Given the description of an element on the screen output the (x, y) to click on. 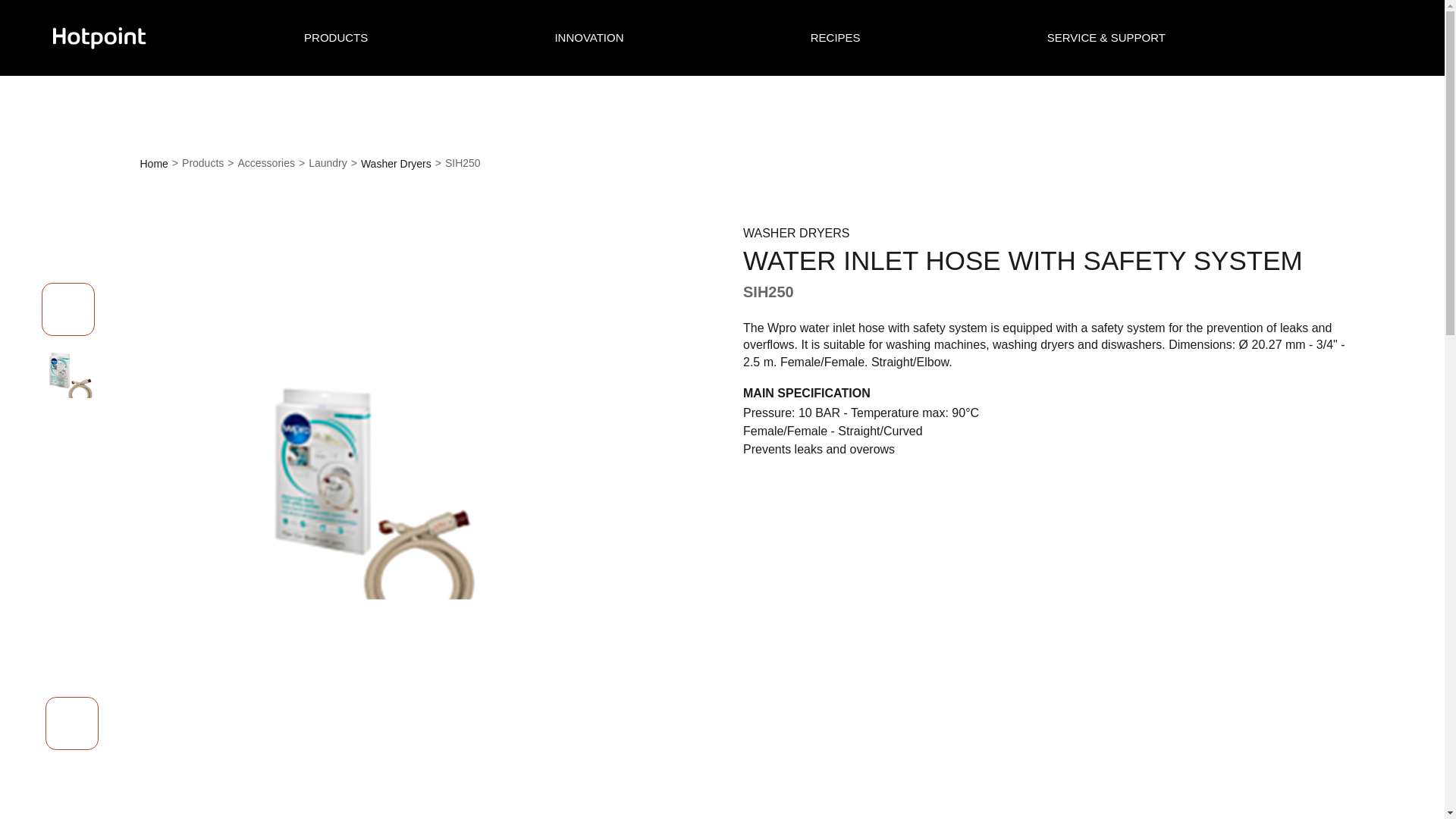
PRODUCTS (335, 38)
RECIPES (835, 38)
Privacy notice (943, 29)
INNOVATION (587, 38)
